Given the description of an element on the screen output the (x, y) to click on. 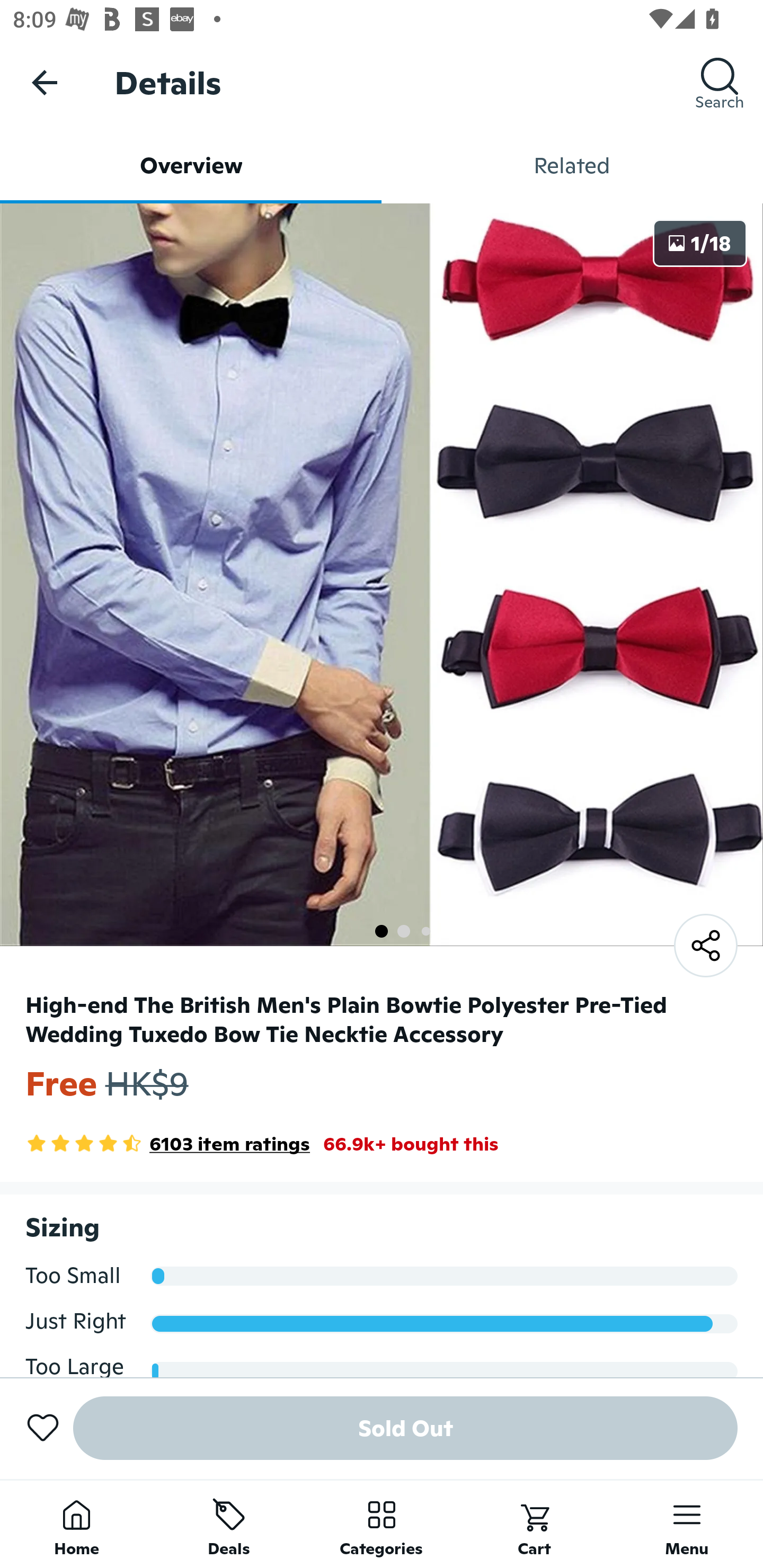
Navigate up (44, 82)
Search (719, 82)
Related (572, 165)
1/18 (700, 242)
4.4 Star Rating 6103 item ratings (167, 1143)
Sold Out (405, 1428)
Home (76, 1523)
Deals (228, 1523)
Categories (381, 1523)
Cart (533, 1523)
Menu (686, 1523)
